Given the description of an element on the screen output the (x, y) to click on. 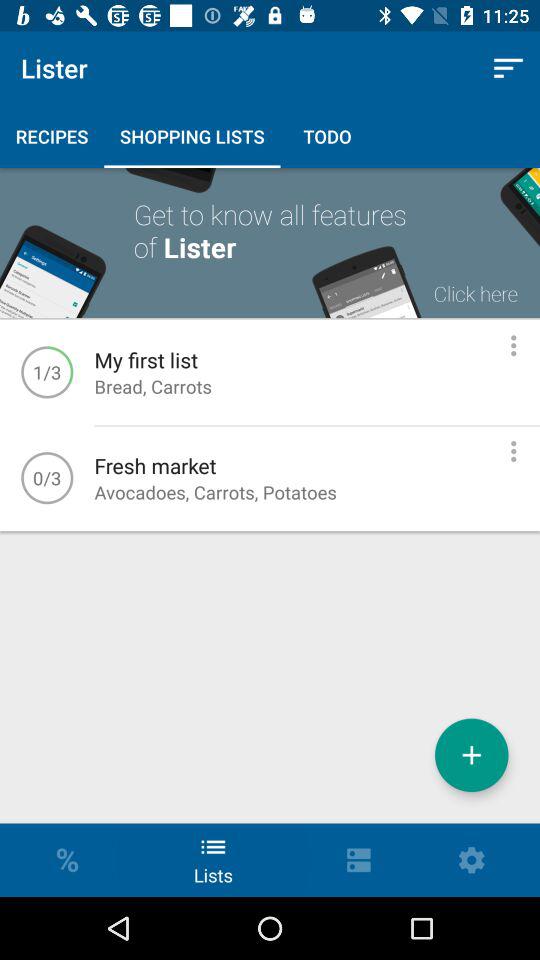
add a shopping list (471, 755)
